Given the description of an element on the screen output the (x, y) to click on. 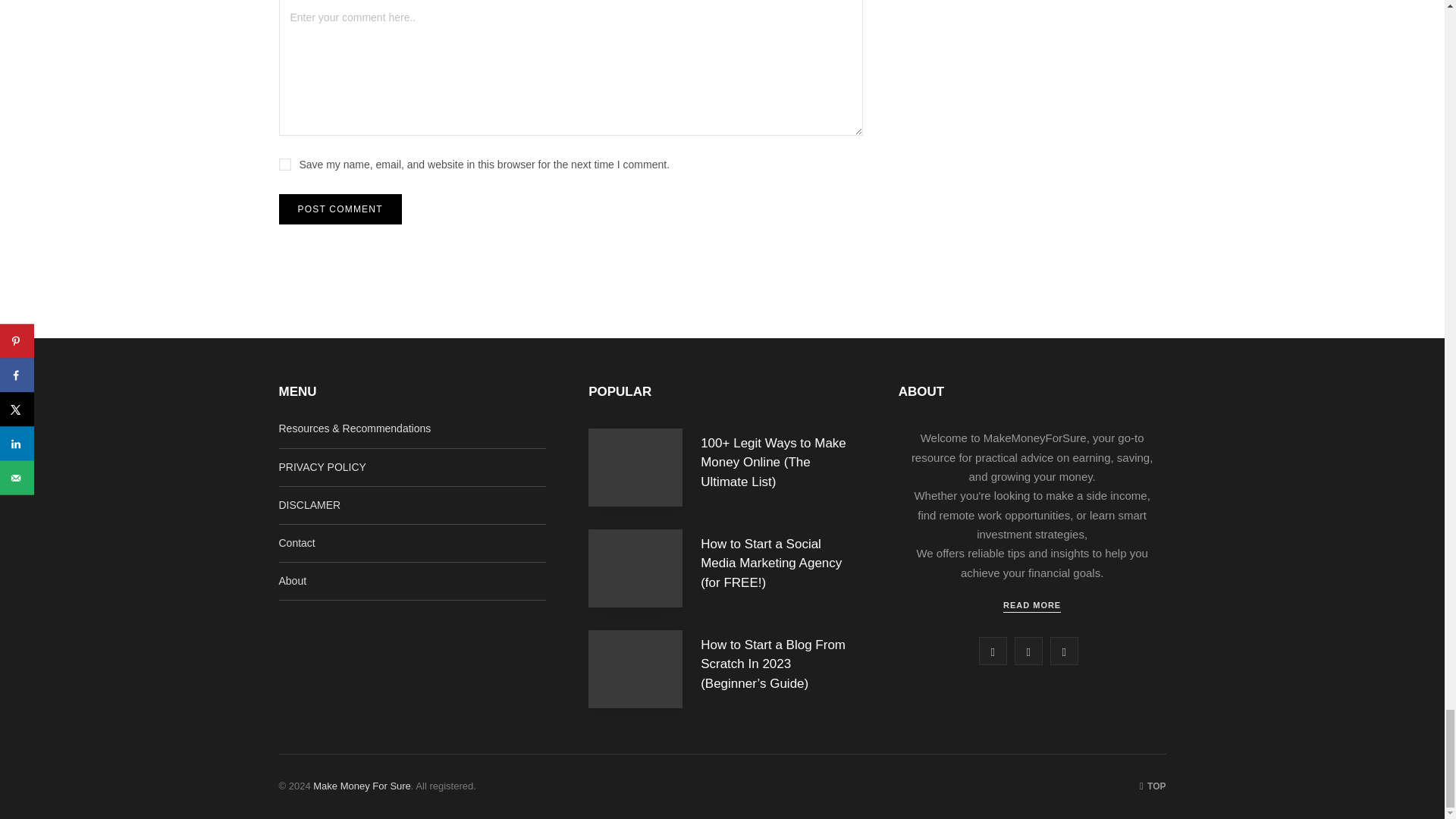
yes (285, 164)
Post Comment (340, 209)
